Given the description of an element on the screen output the (x, y) to click on. 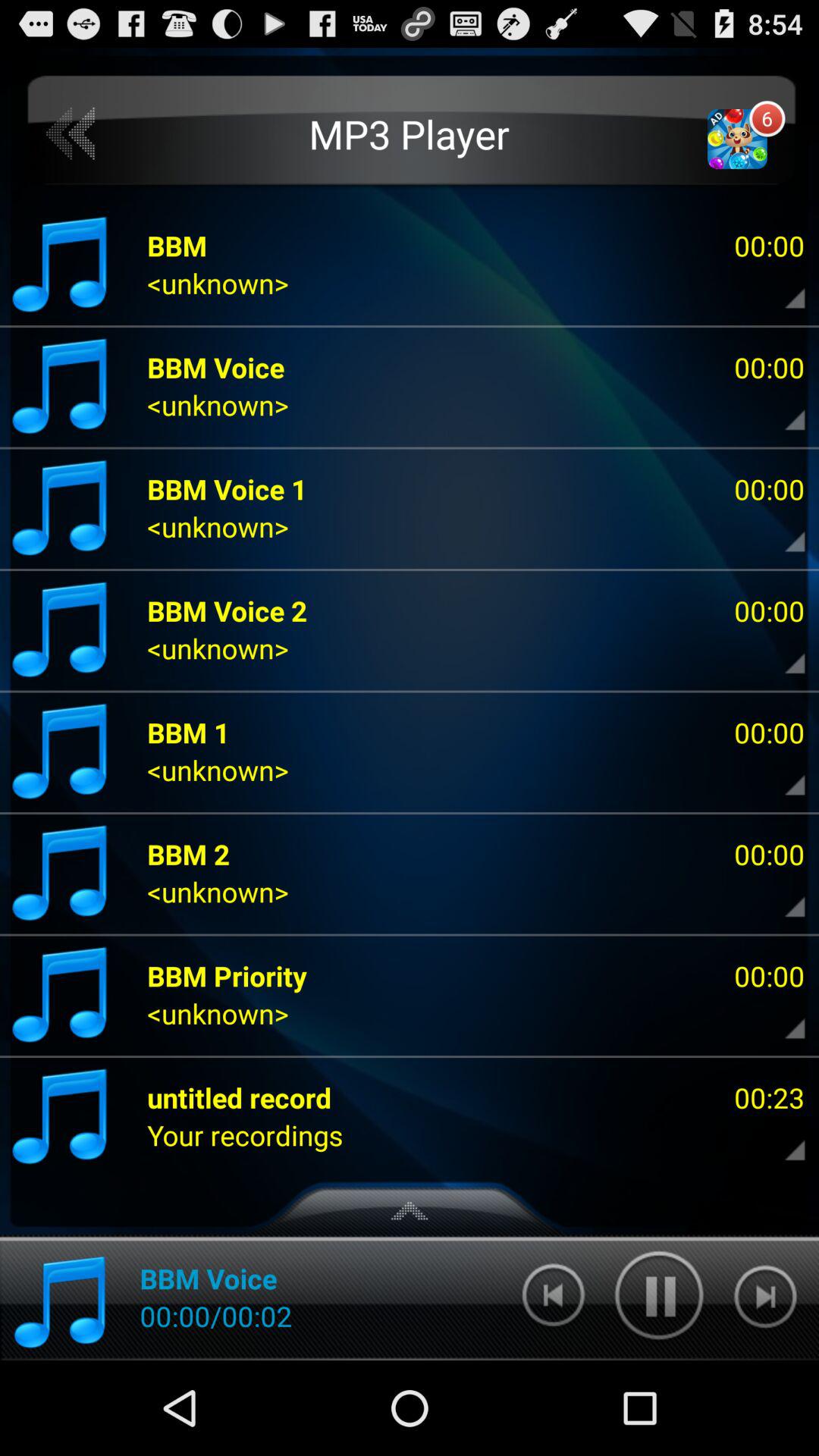
go back (71, 133)
